Given the description of an element on the screen output the (x, y) to click on. 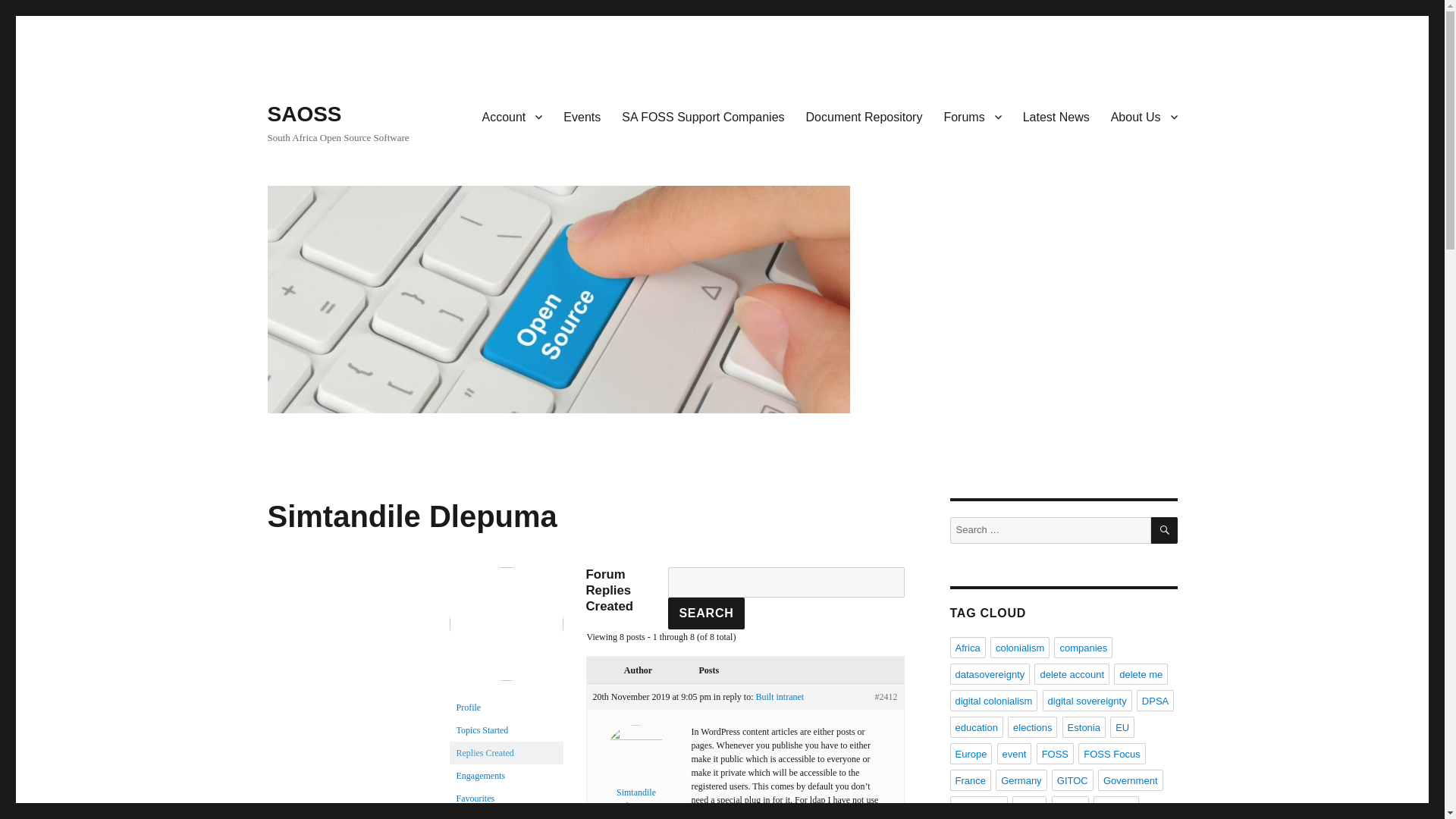
Simtandile Dlepuma (505, 630)
Account (512, 116)
SAOSS (303, 114)
Latest News (1055, 116)
Simtandile Dlepuma's Topics Started (505, 730)
Simtandile Dlepuma's Favourites (505, 798)
View Simtandile Dlepuma's profile (635, 778)
Search (706, 613)
Simtandile Dlepuma's Profile (505, 707)
About Us (1144, 116)
Document Repository (863, 116)
Simtandile Dlepuma's Replies Created (505, 753)
Events (582, 116)
Simtandile Dlepuma' Engagements (505, 775)
SA FOSS Support Companies (702, 116)
